Given the description of an element on the screen output the (x, y) to click on. 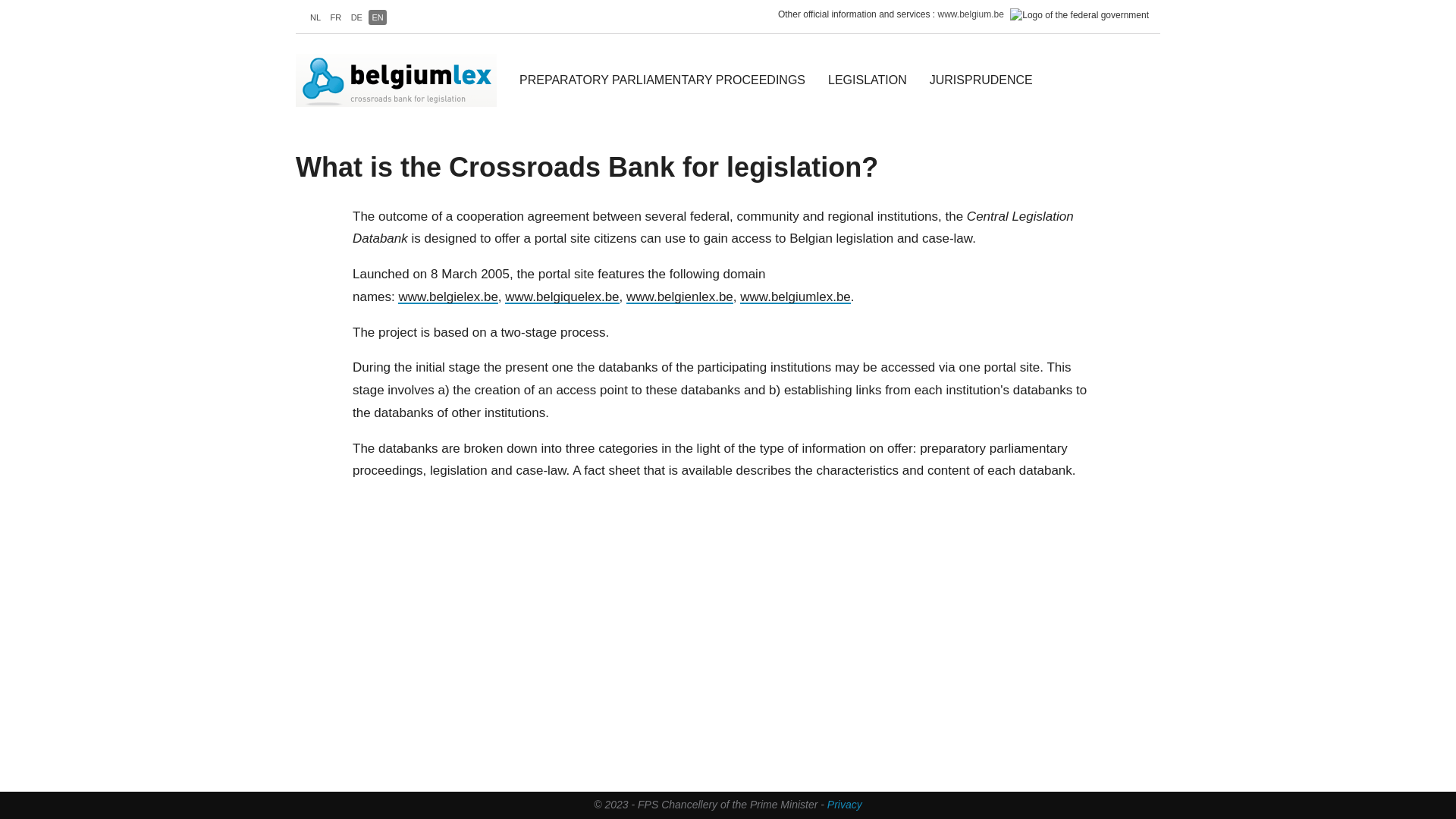
LEGISLATION Element type: text (867, 80)
Home Element type: hover (401, 79)
EN Element type: text (376, 17)
NL Element type: text (315, 17)
PREPARATORY PARLIAMENTARY PROCEEDINGS Element type: text (662, 80)
FR Element type: text (336, 17)
Privacy Element type: text (844, 804)
www.belgiumlex.be Element type: text (795, 296)
DE Element type: text (356, 17)
www.belgiquelex.be Element type: text (561, 296)
www.belgienlex.be Element type: text (679, 296)
www.belgielex.be Element type: text (447, 296)
Skip to main content Element type: text (0, 0)
www.belgium.be Element type: text (970, 14)
JURISPRUDENCE Element type: text (981, 80)
